Given the description of an element on the screen output the (x, y) to click on. 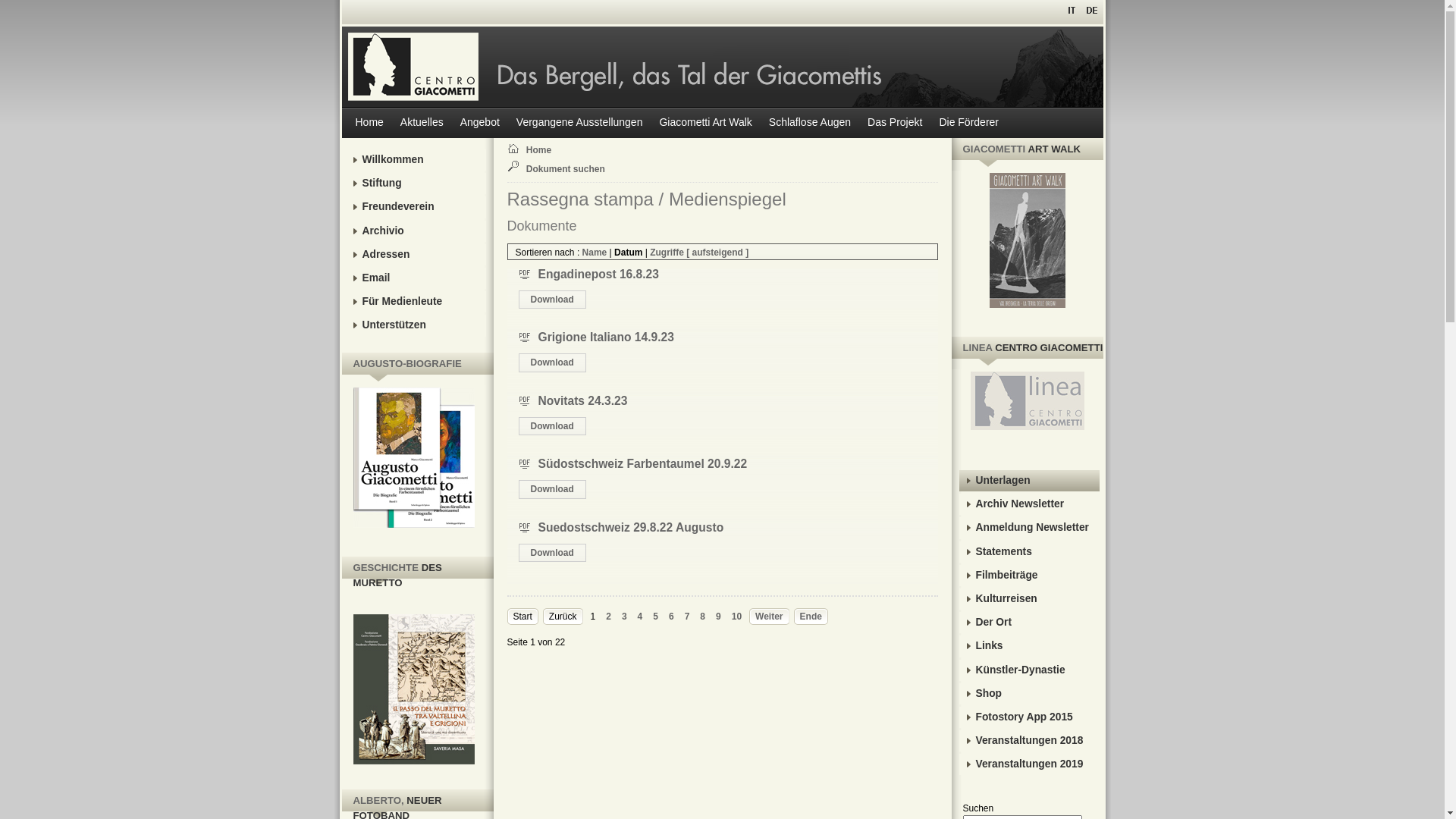
DE Element type: hover (1090, 9)
6 Element type: text (671, 616)
Veranstaltungen 2019 Element type: text (1028, 764)
Download Element type: text (552, 552)
Schlaflose Augen Element type: text (809, 122)
Statements Element type: text (1028, 551)
Anmeldung Newsletter Element type: text (1028, 527)
Veranstaltungen 2018 Element type: text (1028, 740)
Willkommen Element type: text (415, 159)
Der Ort Element type: text (1028, 622)
Home Element type: text (570, 150)
5 Element type: text (655, 616)
2 Element type: text (608, 616)
[ aufsteigend ] Element type: text (717, 252)
Stiftung Element type: text (415, 183)
Name Element type: text (594, 252)
Adressen Element type: text (415, 254)
IT Element type: hover (1071, 9)
Download Element type: text (552, 362)
Engadinepost 16.8.23 Element type: text (598, 273)
Kulturreisen Element type: text (1028, 598)
4 Element type: text (640, 616)
Aktuelles Element type: text (421, 122)
Vergangene Ausstellungen Element type: text (579, 122)
7 Element type: text (687, 616)
Dokument suchen Element type: text (570, 169)
9 Element type: text (718, 616)
Fotostory App 2015 Element type: text (1028, 717)
Freundeverein Element type: text (415, 206)
Zugriffe Element type: text (666, 252)
Ende Element type: text (811, 616)
Links Element type: text (1028, 645)
Das Projekt Element type: text (894, 122)
Grigione Italiano 14.9.23 Element type: text (606, 336)
Download Element type: text (552, 426)
8 Element type: text (702, 616)
Unterlagen Element type: text (1028, 480)
Shop Element type: text (1028, 693)
Home Element type: text (368, 122)
Angebot Element type: text (479, 122)
Novitats 24.3.23 Element type: text (582, 400)
Archiv Newsletter Element type: text (1028, 503)
Download Element type: text (552, 299)
Suedostschweiz 29.8.22 Augusto Element type: text (631, 526)
Weiter Element type: text (768, 616)
Download Element type: text (552, 489)
3 Element type: text (624, 616)
10 Element type: text (736, 616)
Giacometti Art Walk Element type: text (705, 122)
Email Element type: text (415, 277)
Archivio Element type: text (415, 230)
